Given the description of an element on the screen output the (x, y) to click on. 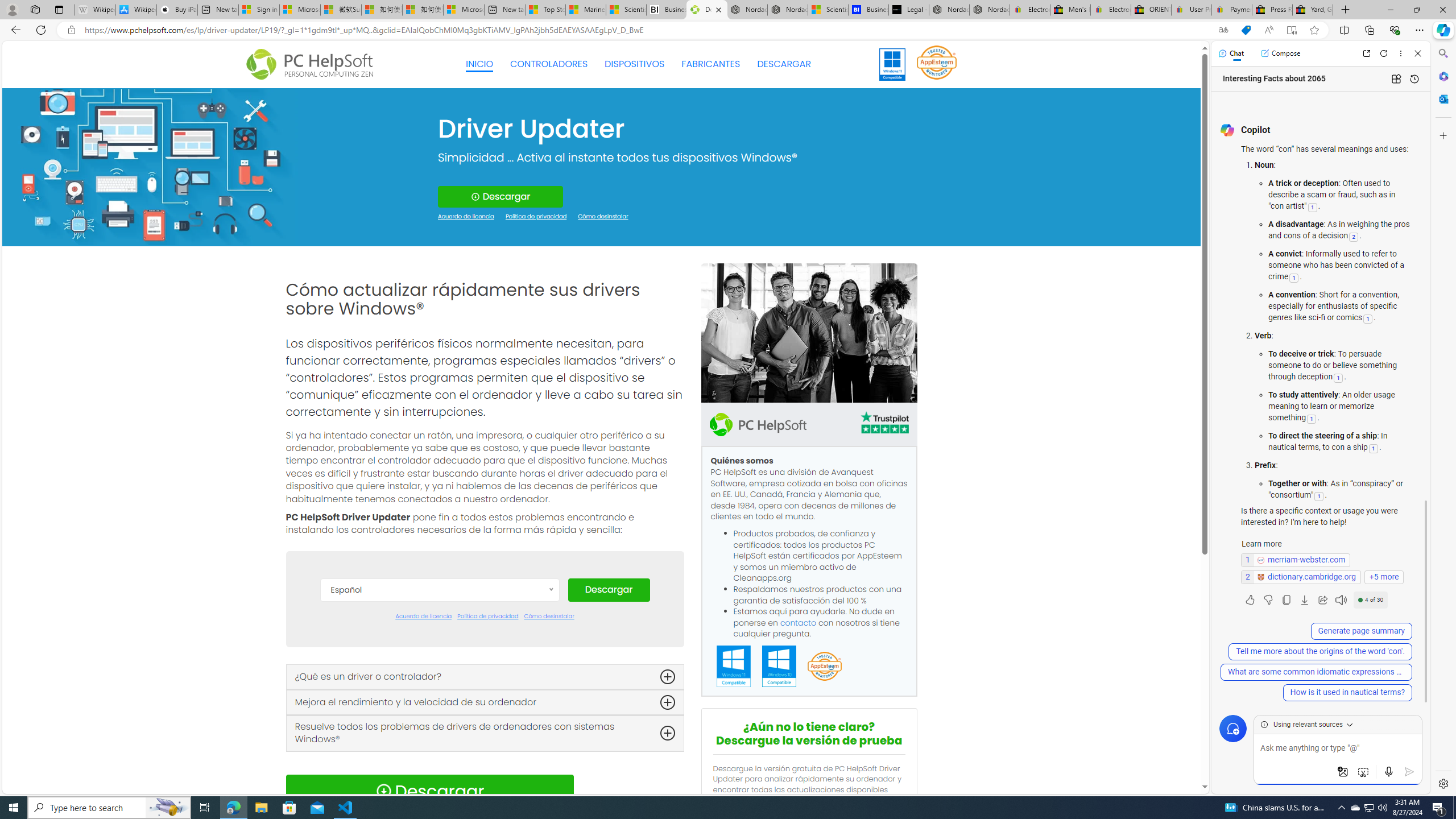
contacto (798, 622)
Download Icon (383, 791)
Open link in new tab (1366, 53)
Nederlands (439, 763)
CONTROLADORES (548, 64)
English (439, 695)
